Given the description of an element on the screen output the (x, y) to click on. 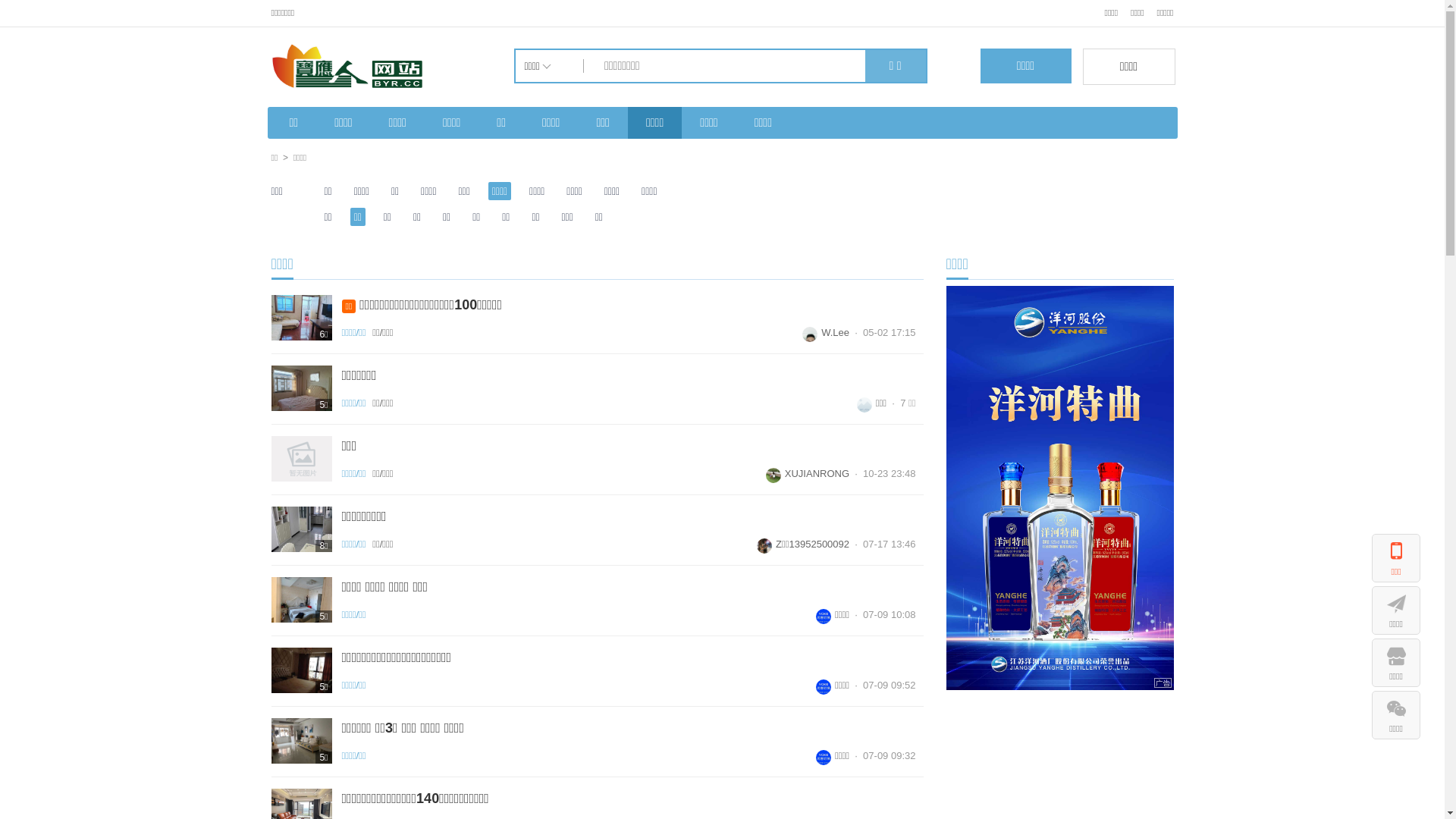
W.Lee Element type: text (825, 332)
XUJIANRONG Element type: text (807, 473)
